Given the description of an element on the screen output the (x, y) to click on. 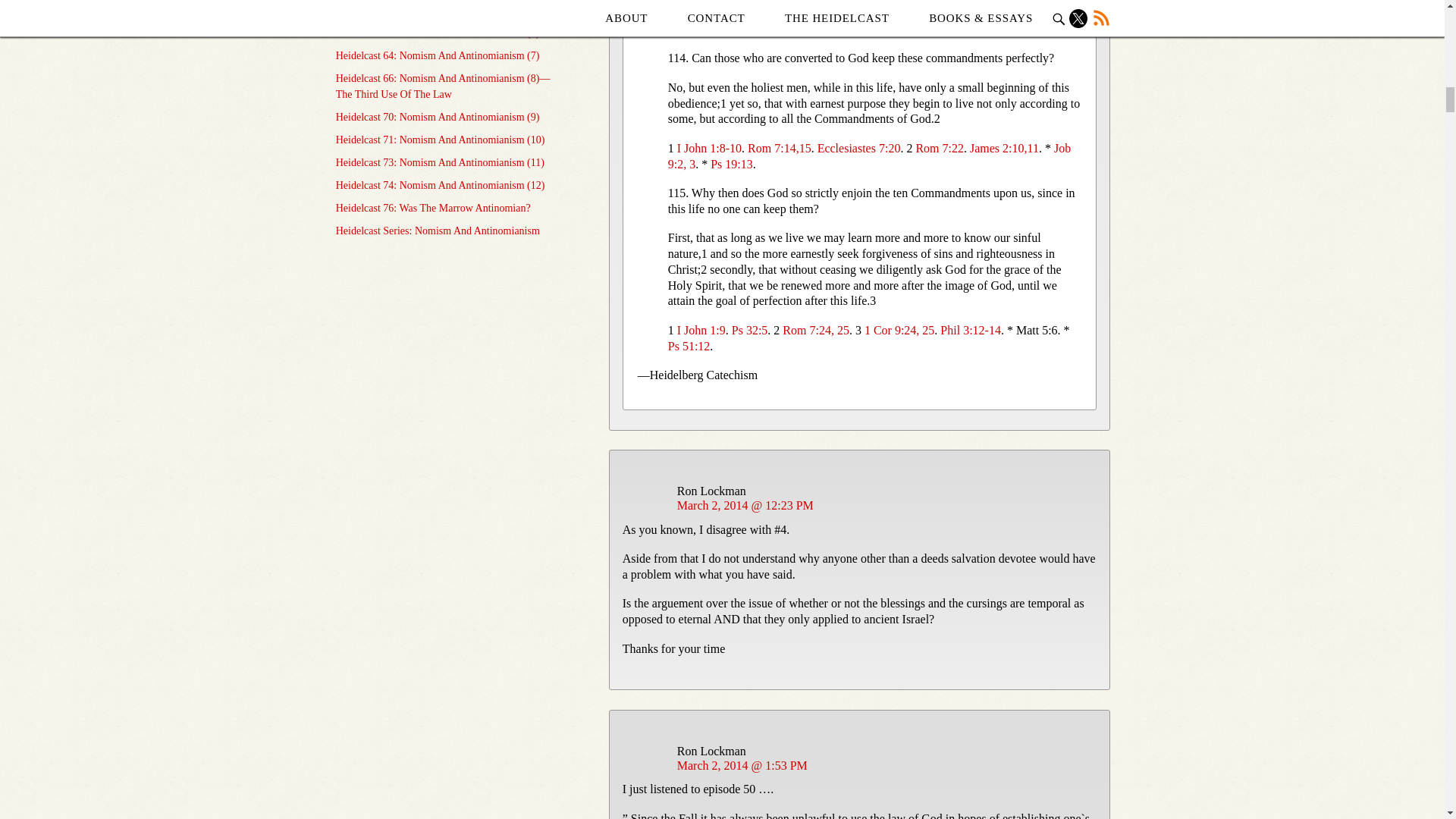
James 2:10,11 (1004, 147)
Rom 7:24, 25 (815, 329)
Rom 7:7,8 (703, 29)
1 Cor 9:24, 25 (899, 329)
James 1:14,15 (841, 29)
Job 9:2, 3 (869, 155)
Prov 4:23 (766, 29)
Ps 32:5 (750, 329)
Rom 7:22 (939, 147)
Ps 19:13 (731, 164)
I John 1:9 (701, 329)
Ecclesiastes 7:20 (858, 147)
Rom 7:14,15 (779, 147)
Phil 3:12-14 (970, 329)
I John 1:8-10 (709, 147)
